Given the description of an element on the screen output the (x, y) to click on. 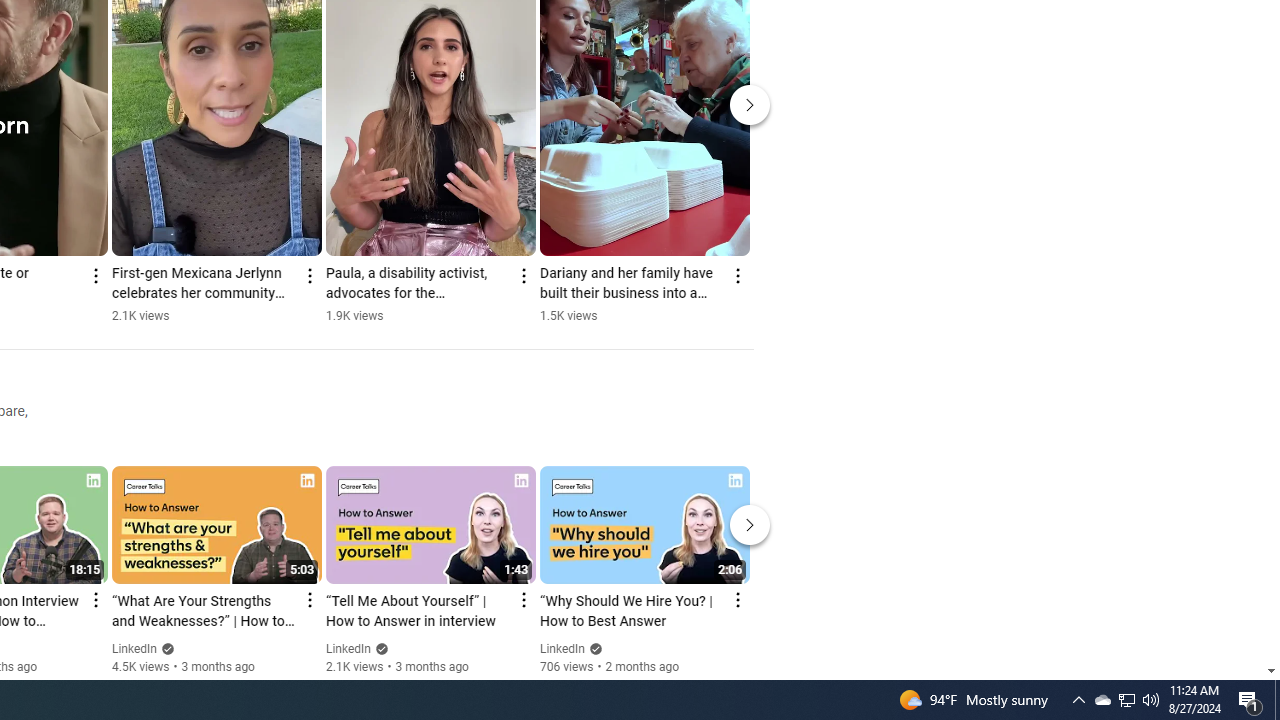
Verified (592, 647)
Action menu (736, 600)
More actions (736, 276)
Next (749, 524)
LinkedIn (562, 649)
